Given the description of an element on the screen output the (x, y) to click on. 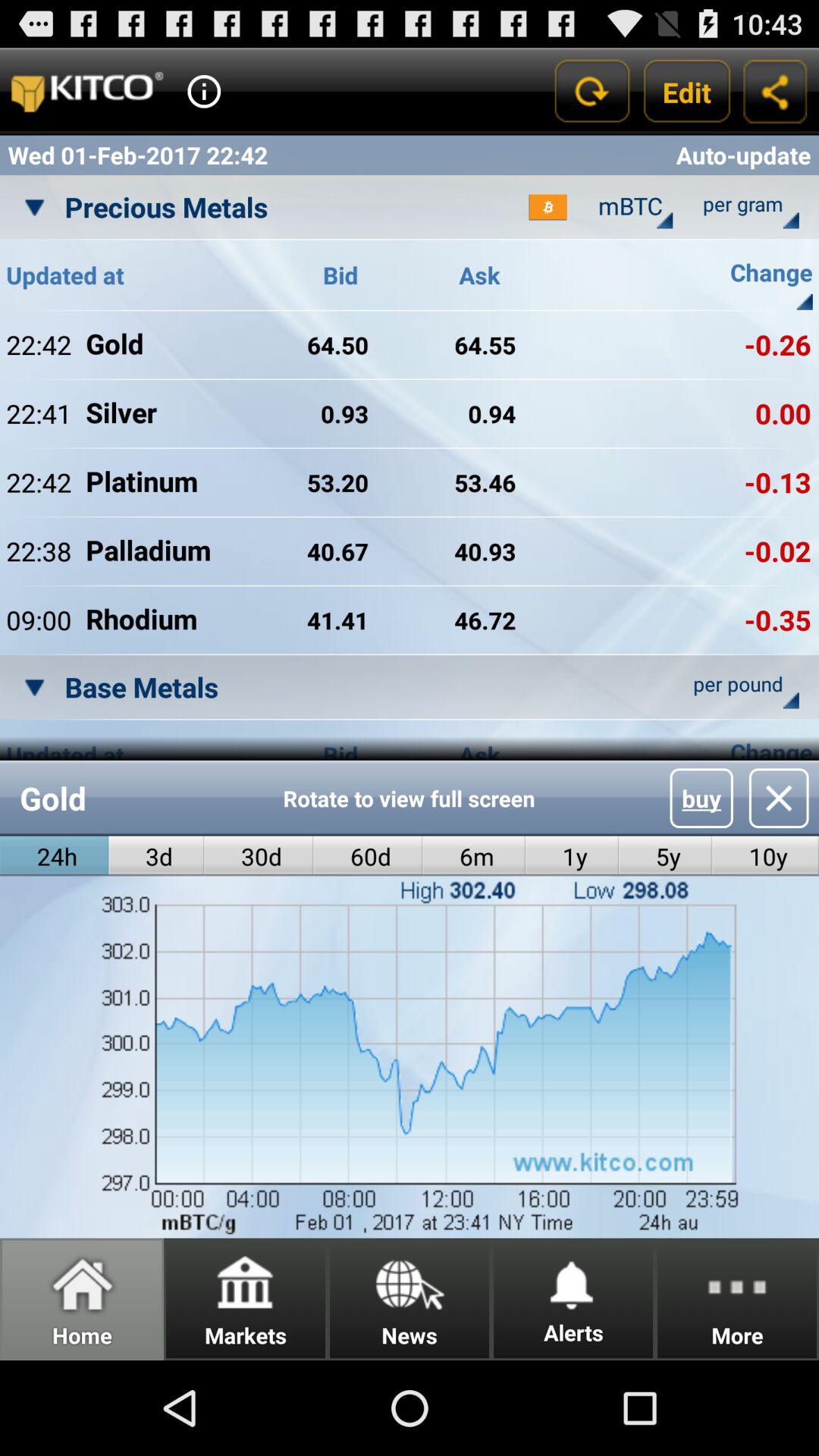
press the item below rotate to view item (367, 856)
